Given the description of an element on the screen output the (x, y) to click on. 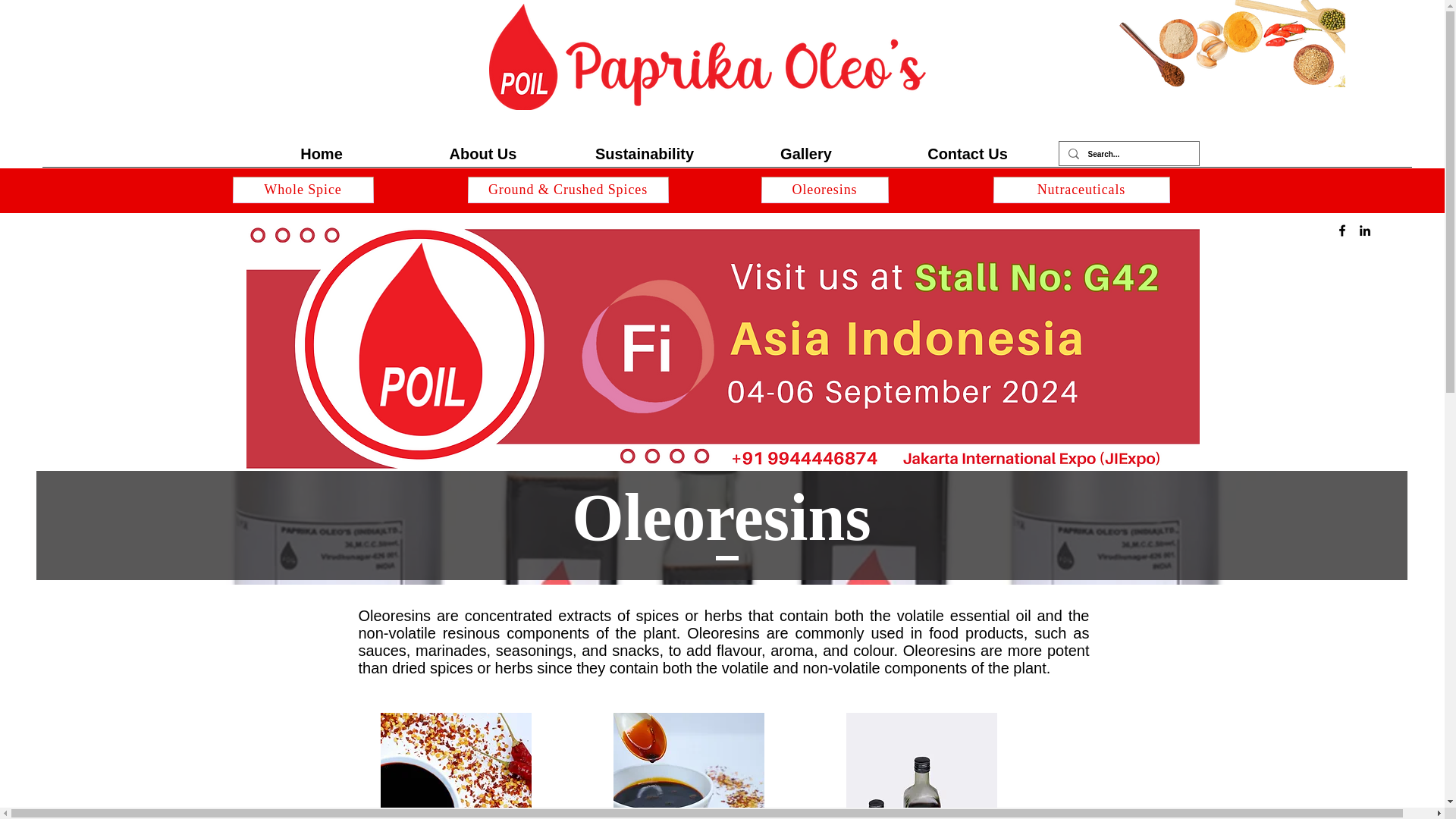
Nutraceuticals (1081, 189)
Home (322, 153)
Contact Us (967, 153)
About Us (482, 153)
Gallery (805, 153)
a-copy-space-with-culinary-theme-a-backg (1230, 43)
paprika oleoes logo.png (705, 56)
Oleoresins (824, 189)
Whole Spice (301, 189)
Sustainability (644, 153)
